Given the description of an element on the screen output the (x, y) to click on. 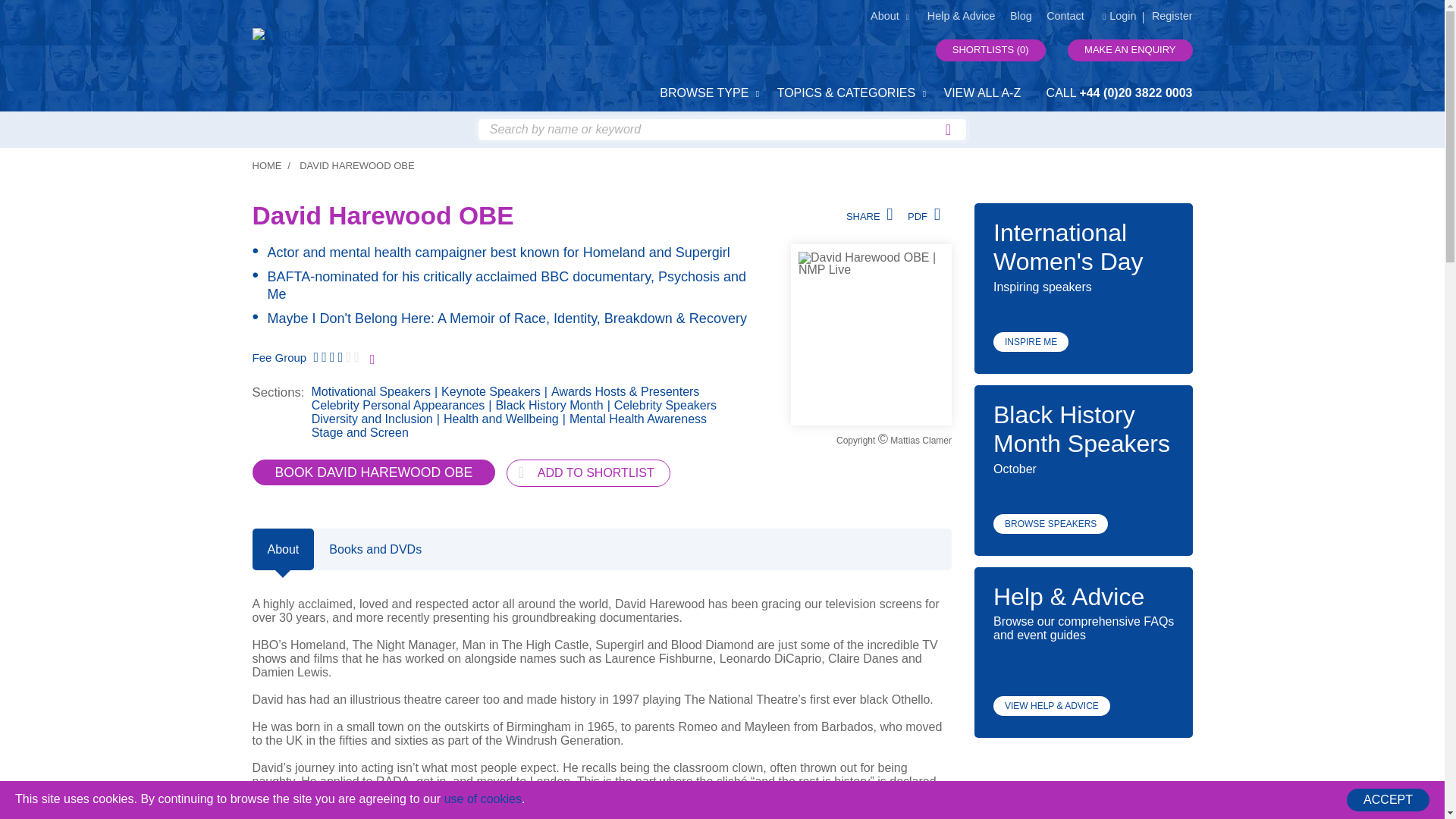
About (282, 549)
Books and DVDs (375, 549)
